Given the description of an element on the screen output the (x, y) to click on. 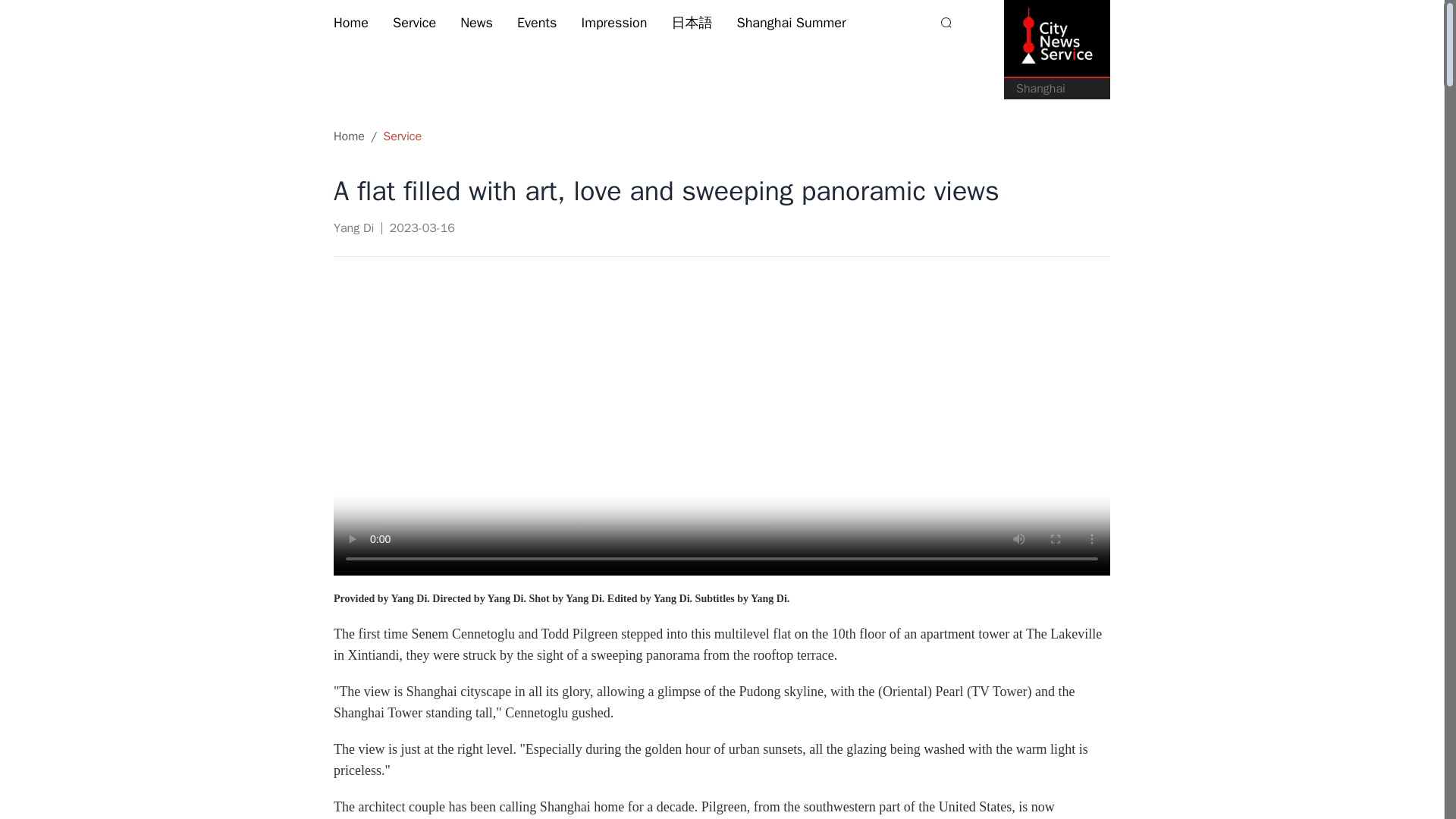
News (476, 22)
city news service (1056, 38)
Shanghai Summer (790, 22)
Service (414, 22)
Events (536, 22)
Home (350, 22)
Impression (613, 22)
